Given the description of an element on the screen output the (x, y) to click on. 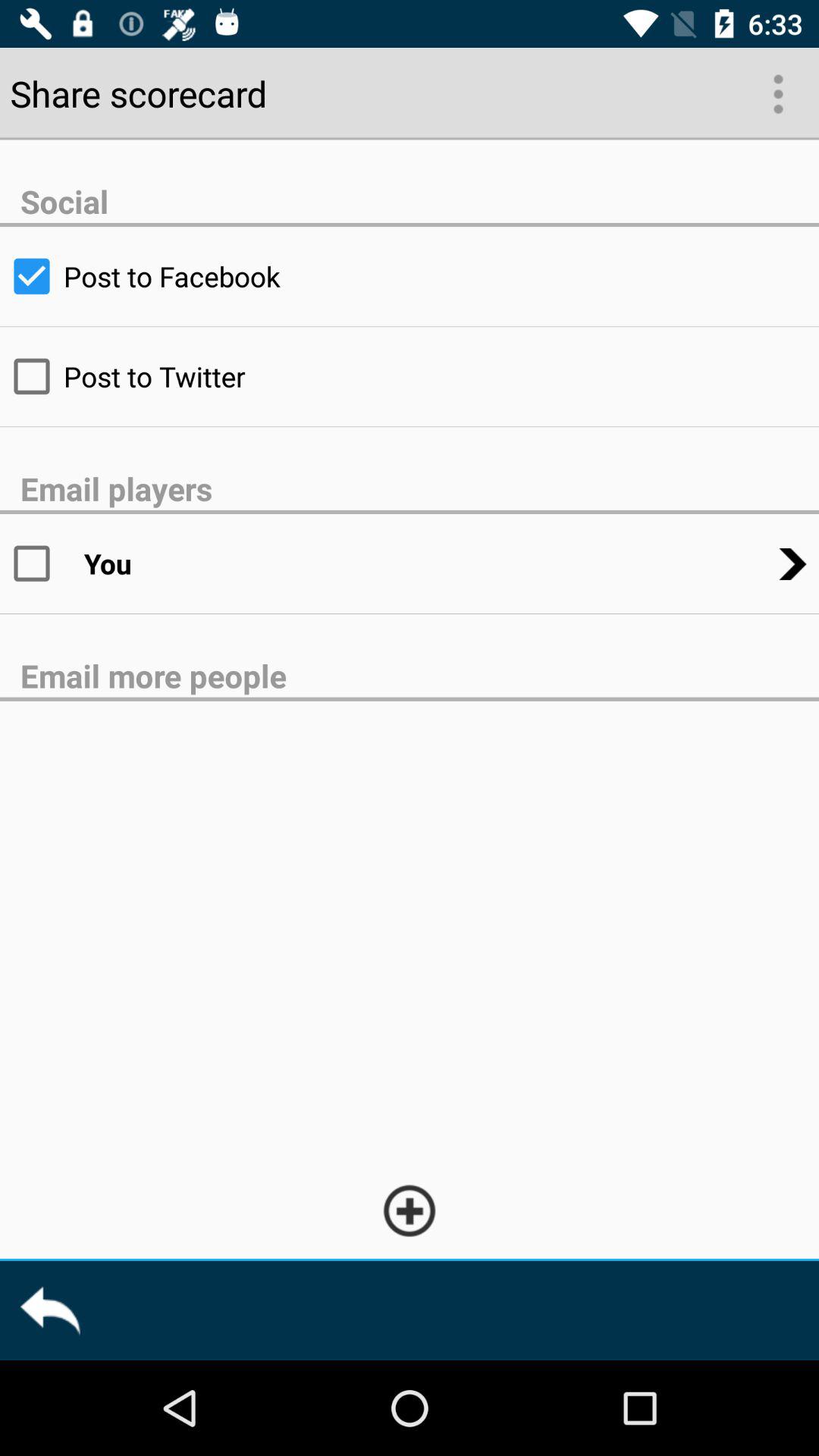
select yourself to email (42, 563)
